Given the description of an element on the screen output the (x, y) to click on. 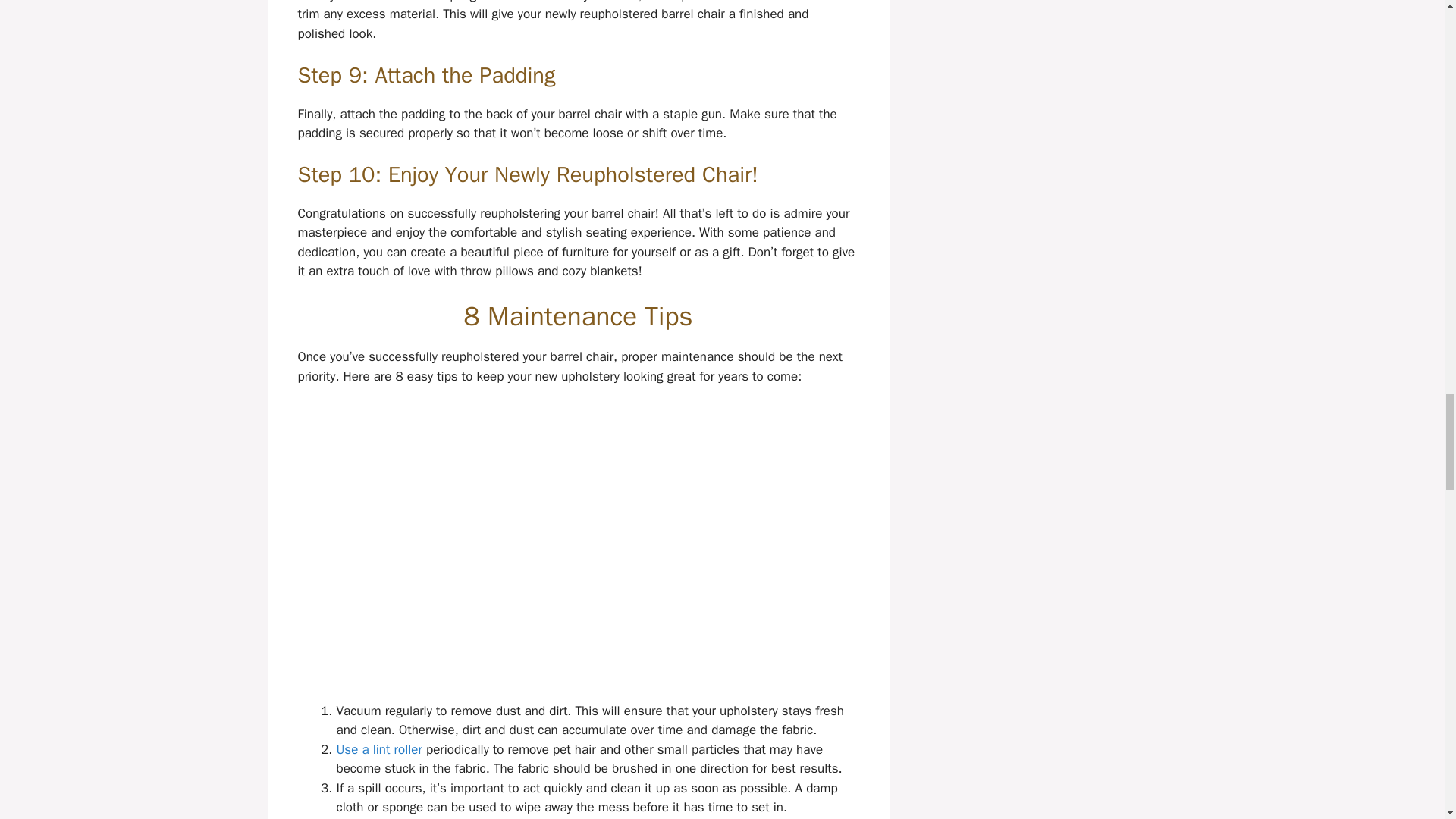
Use a lint roller (379, 749)
